Given the description of an element on the screen output the (x, y) to click on. 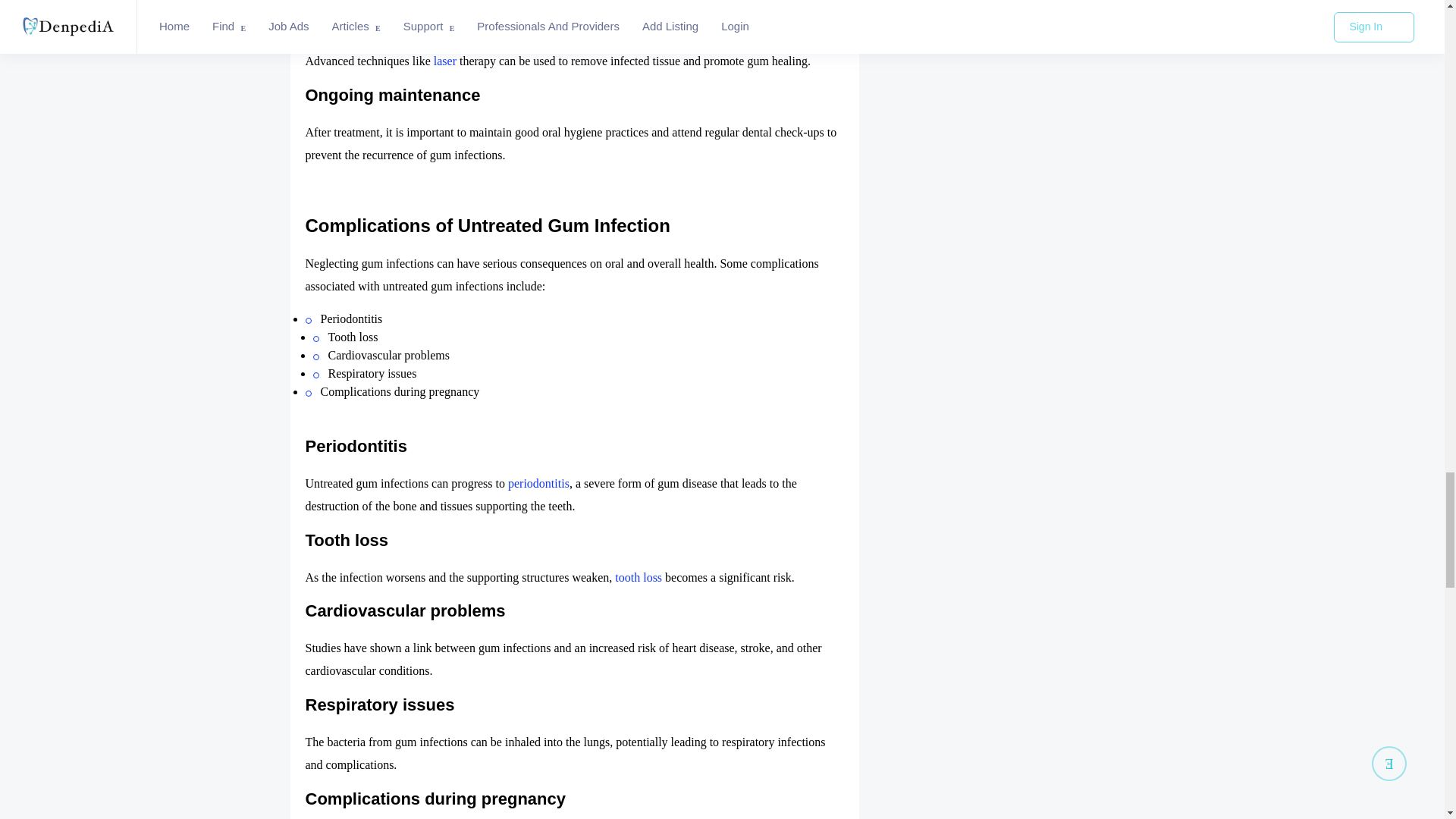
periodontitis (538, 482)
tooth loss (638, 576)
laser (445, 60)
